Given the description of an element on the screen output the (x, y) to click on. 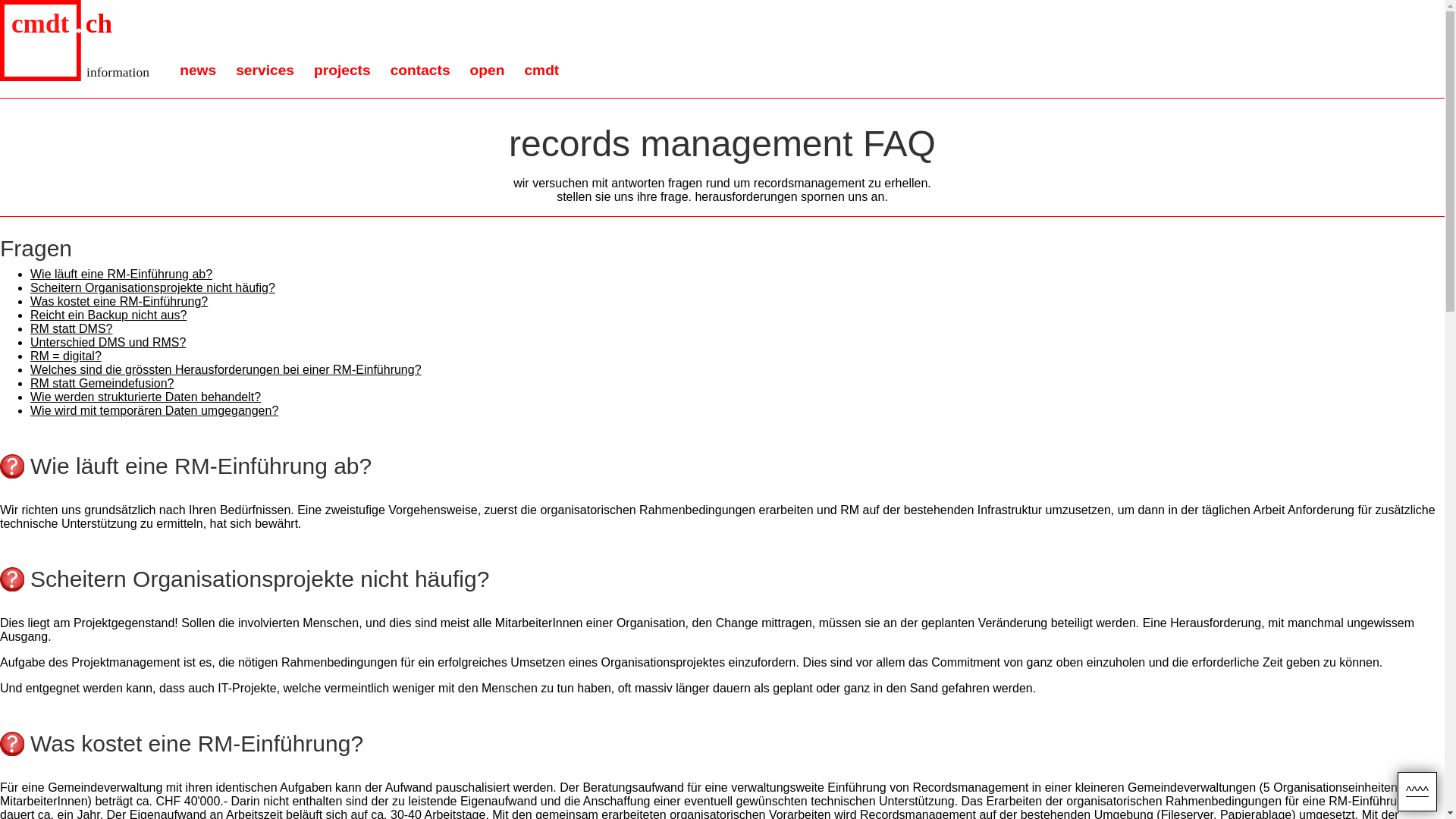
news Element type: text (197, 70)
cmdt Element type: text (540, 70)
services Element type: text (264, 70)
^^^^ Element type: text (1416, 790)
open Element type: text (486, 70)
Reicht ein Backup nicht aus? Element type: text (108, 314)
Unterschied DMS und RMS? Element type: text (107, 341)
RM statt Gemeindefusion? Element type: text (101, 382)
RM statt DMS? Element type: text (71, 328)
Wie werden strukturierte Daten behandelt? Element type: text (145, 396)
contacts Element type: text (419, 70)
projects Element type: text (341, 70)
RM = digital? Element type: text (65, 355)
